Given the description of an element on the screen output the (x, y) to click on. 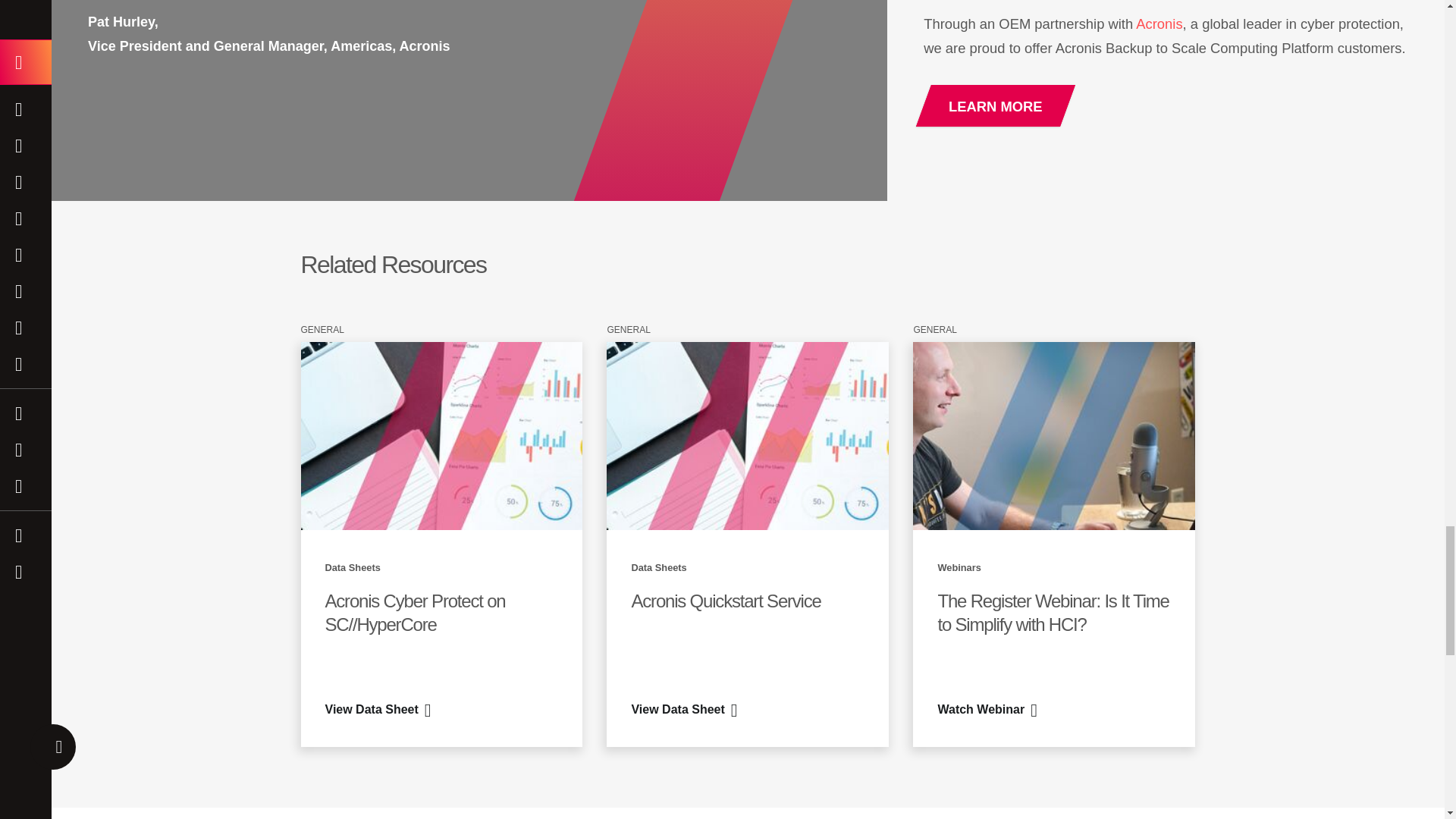
View Data Sheet (683, 709)
Acronis (1157, 23)
View Data Sheet (377, 709)
LEARN MORE (995, 105)
Watch Webinar (986, 709)
